Given the description of an element on the screen output the (x, y) to click on. 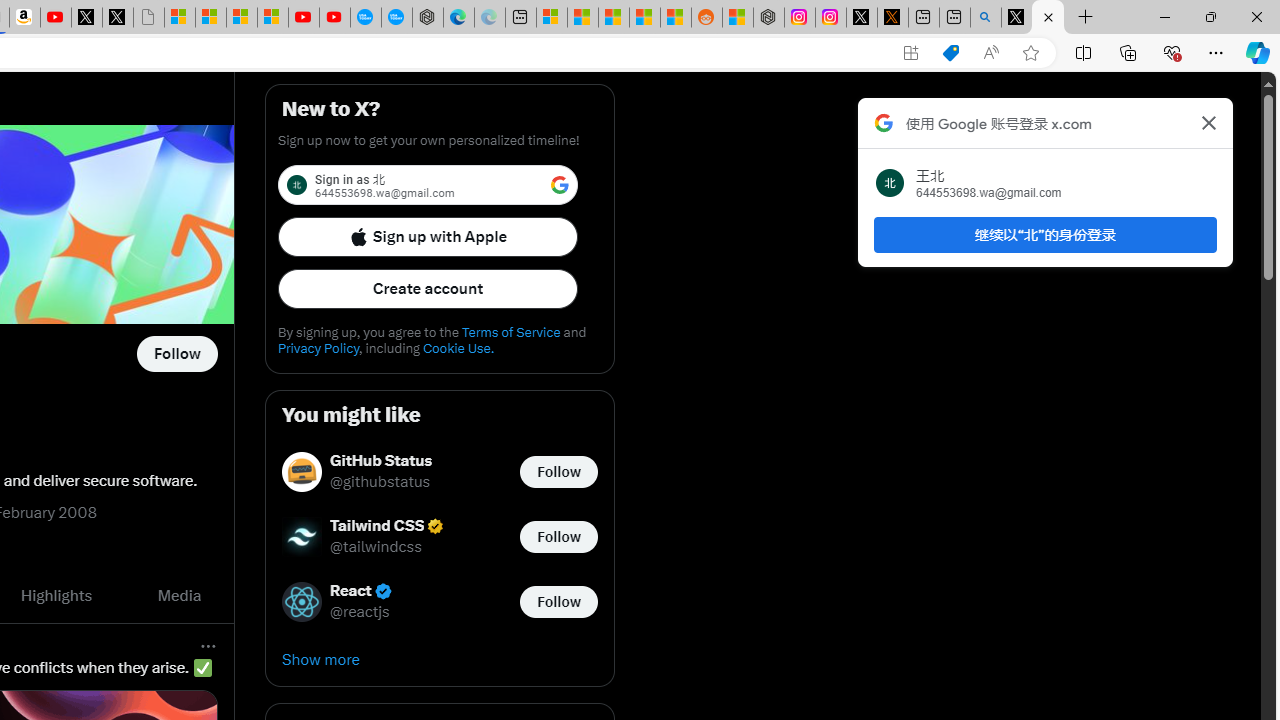
Follow @reactjs (558, 600)
YouTube Kids - An App Created for Kids to Explore Content (334, 17)
React Verified account (361, 592)
React Verified account @reactjs Follow @reactjs (440, 601)
Verified account (382, 591)
Terms of Service (510, 331)
help.x.com | 524: A timeout occurred (892, 17)
GitHub Status (381, 461)
